Given the description of an element on the screen output the (x, y) to click on. 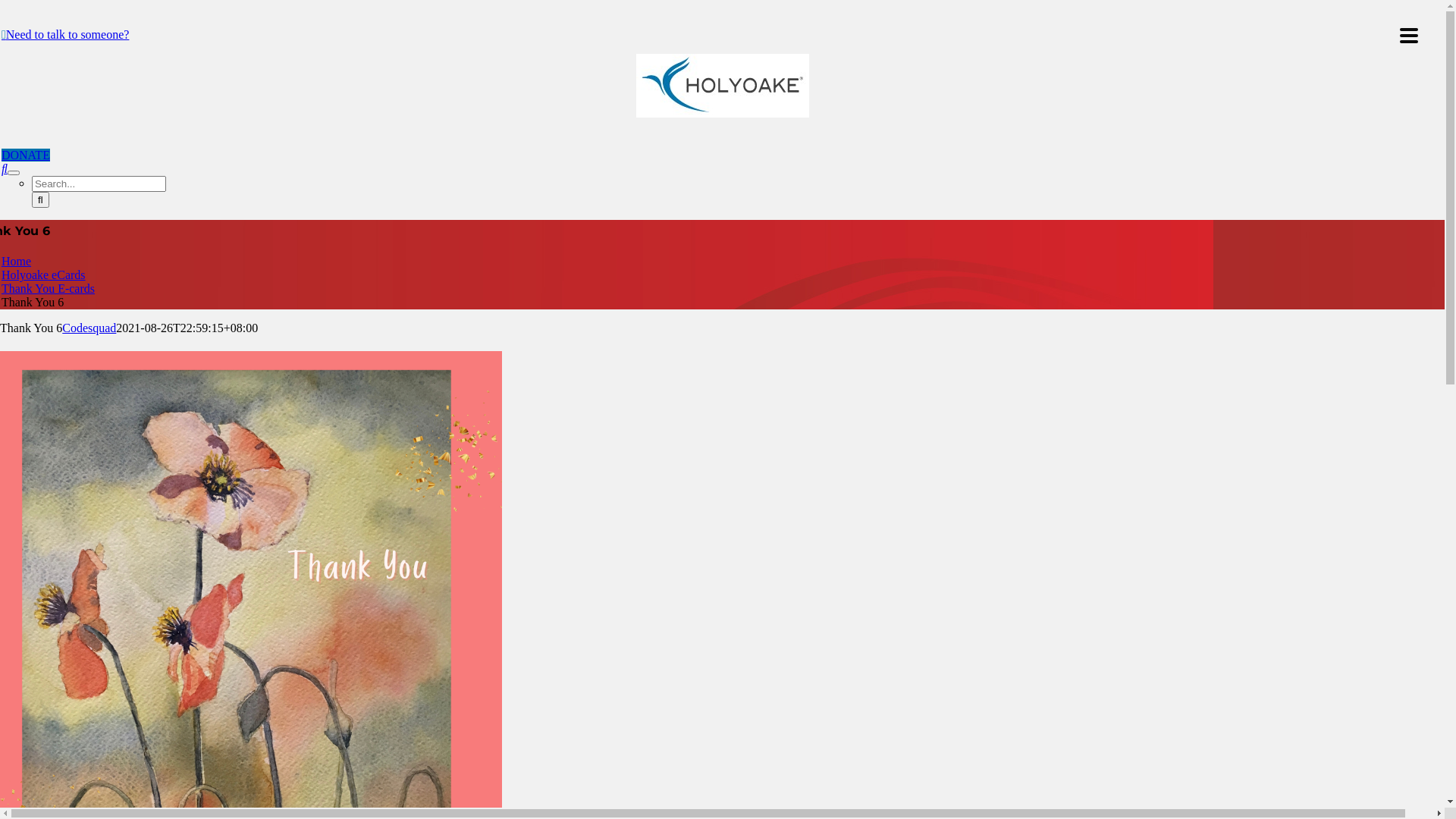
DONATE Element type: text (25, 154)
Holyoake eCards Element type: text (43, 274)
Need to talk to someone? Element type: text (64, 34)
Thank You E-cards Element type: text (47, 288)
Search Element type: hover (4, 168)
Home Element type: text (16, 260)
Codesquad Element type: text (89, 327)
